Given the description of an element on the screen output the (x, y) to click on. 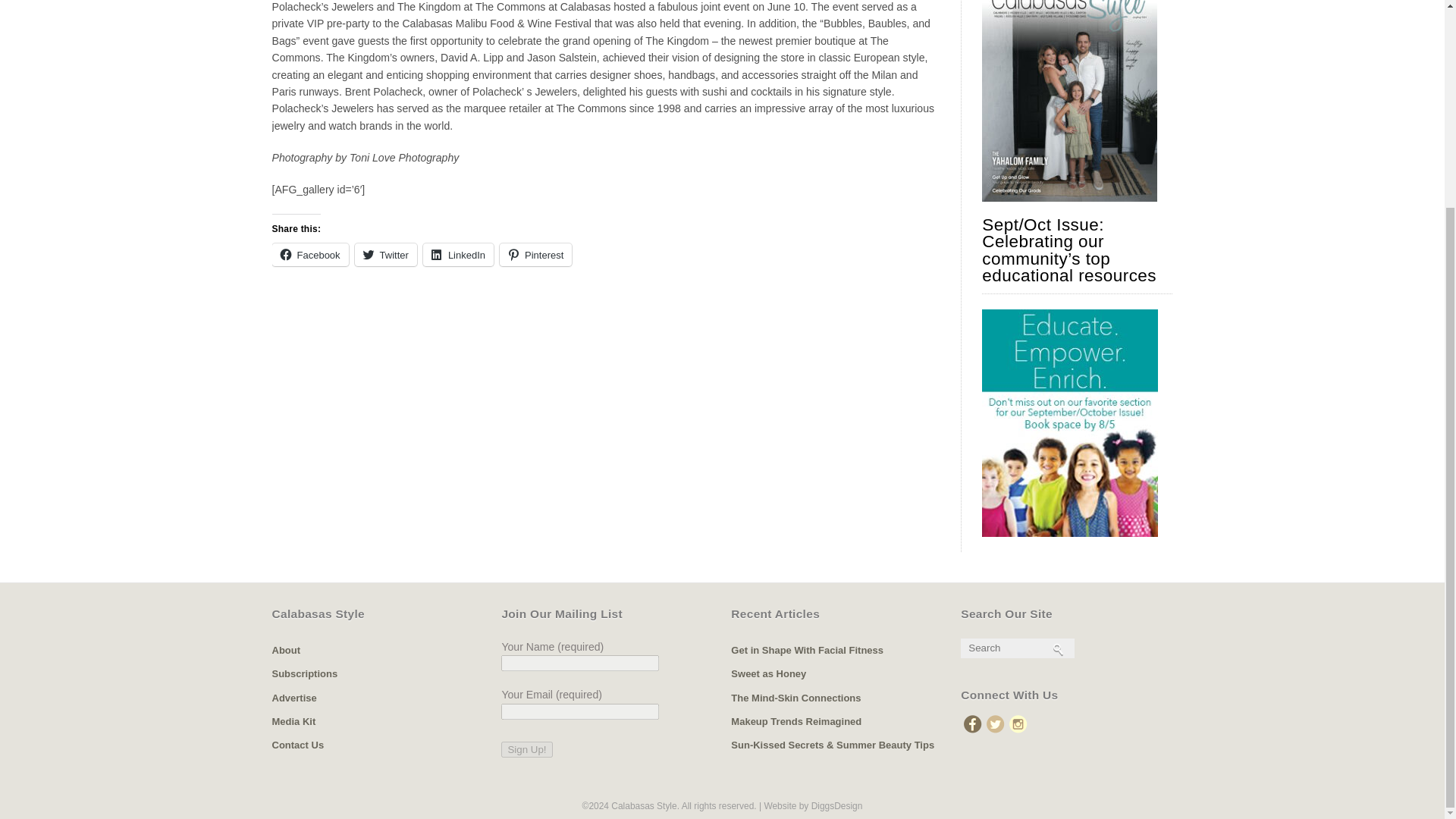
Click to share on Facebook (308, 254)
Click to share on Twitter (385, 254)
Search (1015, 647)
LinkedIn (458, 254)
Sign Up! (525, 749)
Contact Us (296, 745)
Advertise (292, 697)
Click to share on LinkedIn (458, 254)
Twitter (385, 254)
About (284, 650)
Get in Shape With Facial Fitness (806, 650)
Media Kit (292, 721)
Sign Up! (525, 749)
Facebook (308, 254)
Sweet as Honey (768, 673)
